Given the description of an element on the screen output the (x, y) to click on. 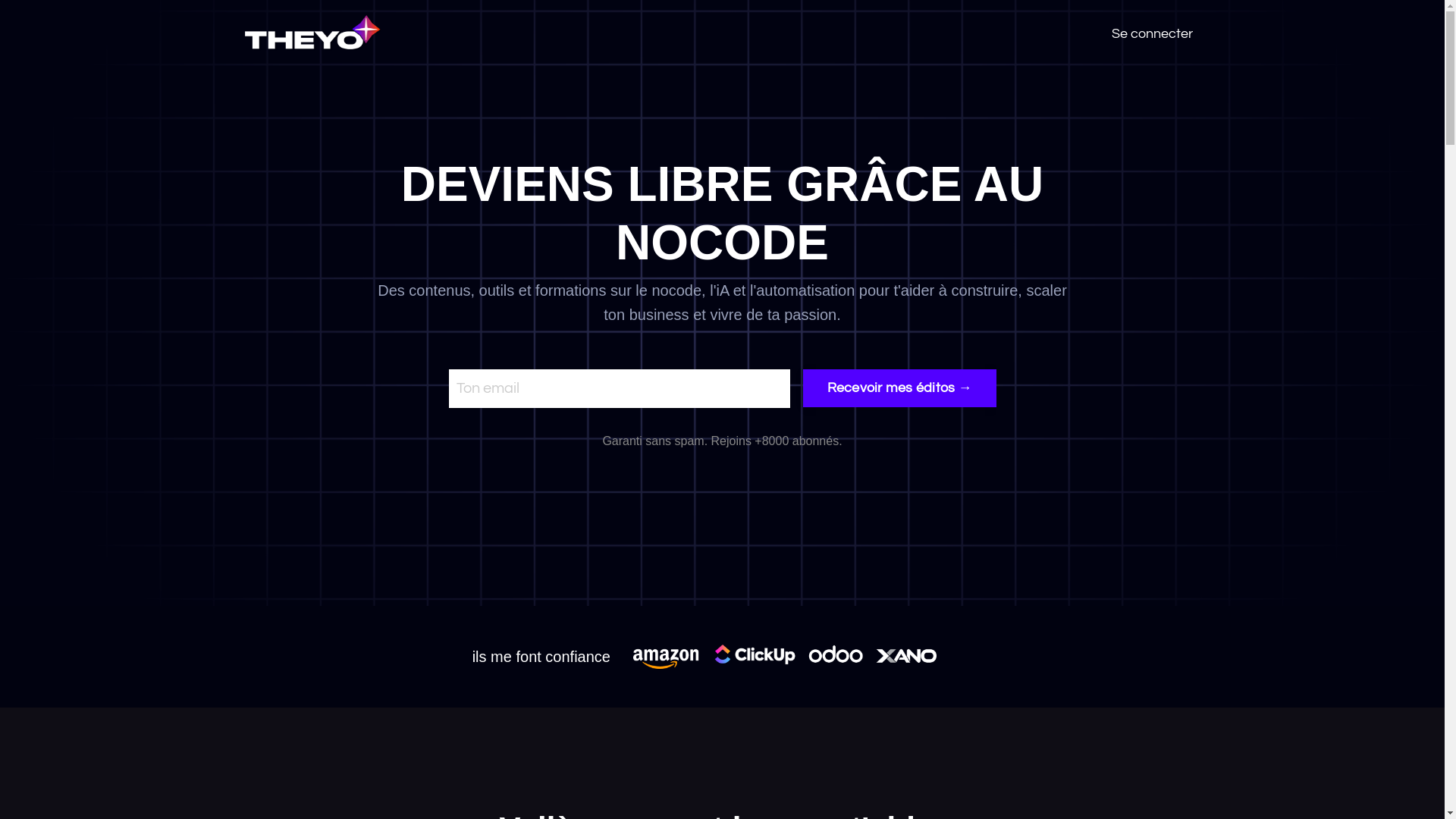
Se connecter Element type: text (1151, 33)
